Given the description of an element on the screen output the (x, y) to click on. 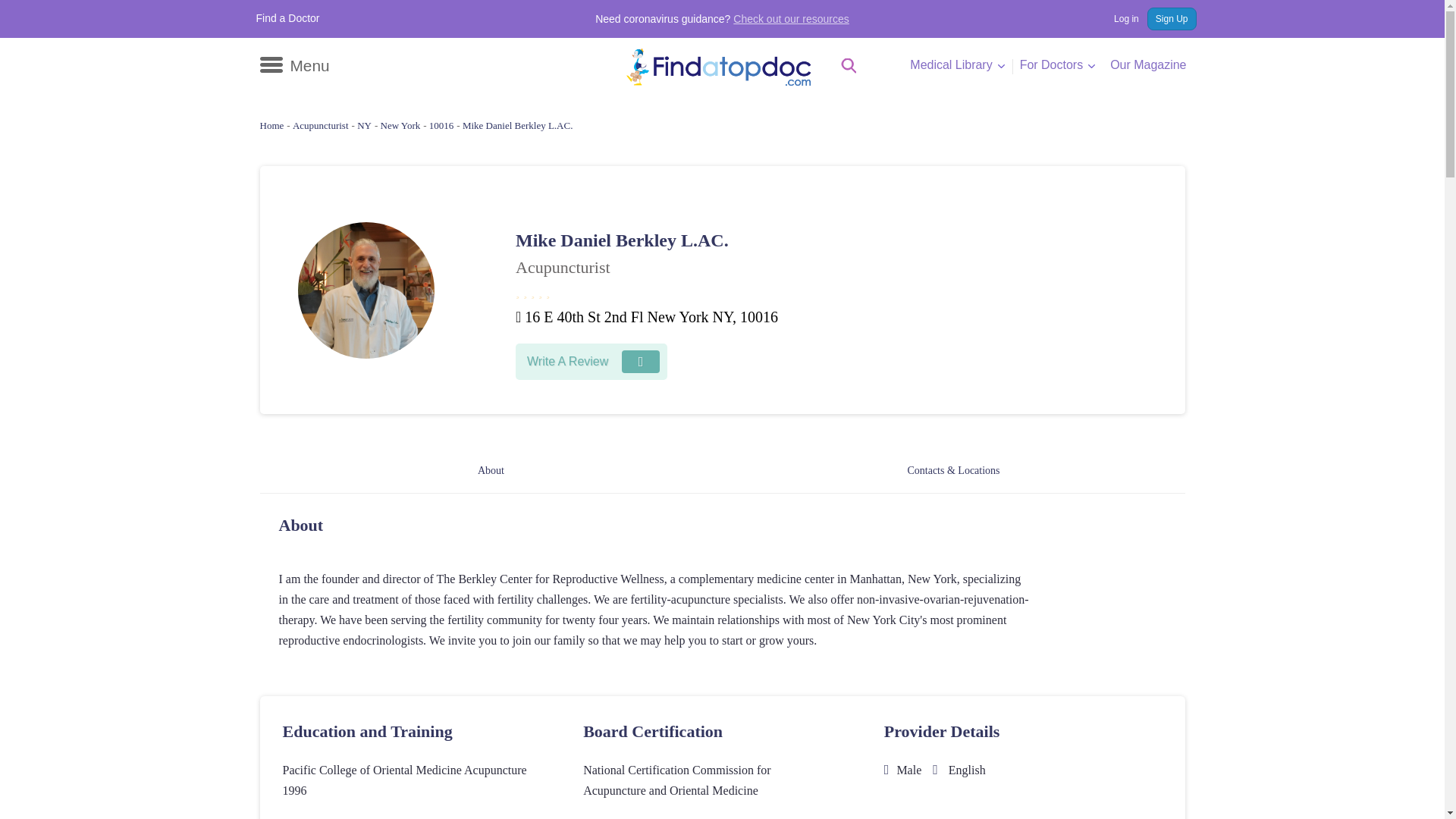
Sign Up (1171, 18)
Sign Up (1171, 18)
Find a Doctor (287, 17)
Log in (1118, 18)
Menu (294, 65)
Log in (1118, 18)
Check out our resources (790, 19)
